Given the description of an element on the screen output the (x, y) to click on. 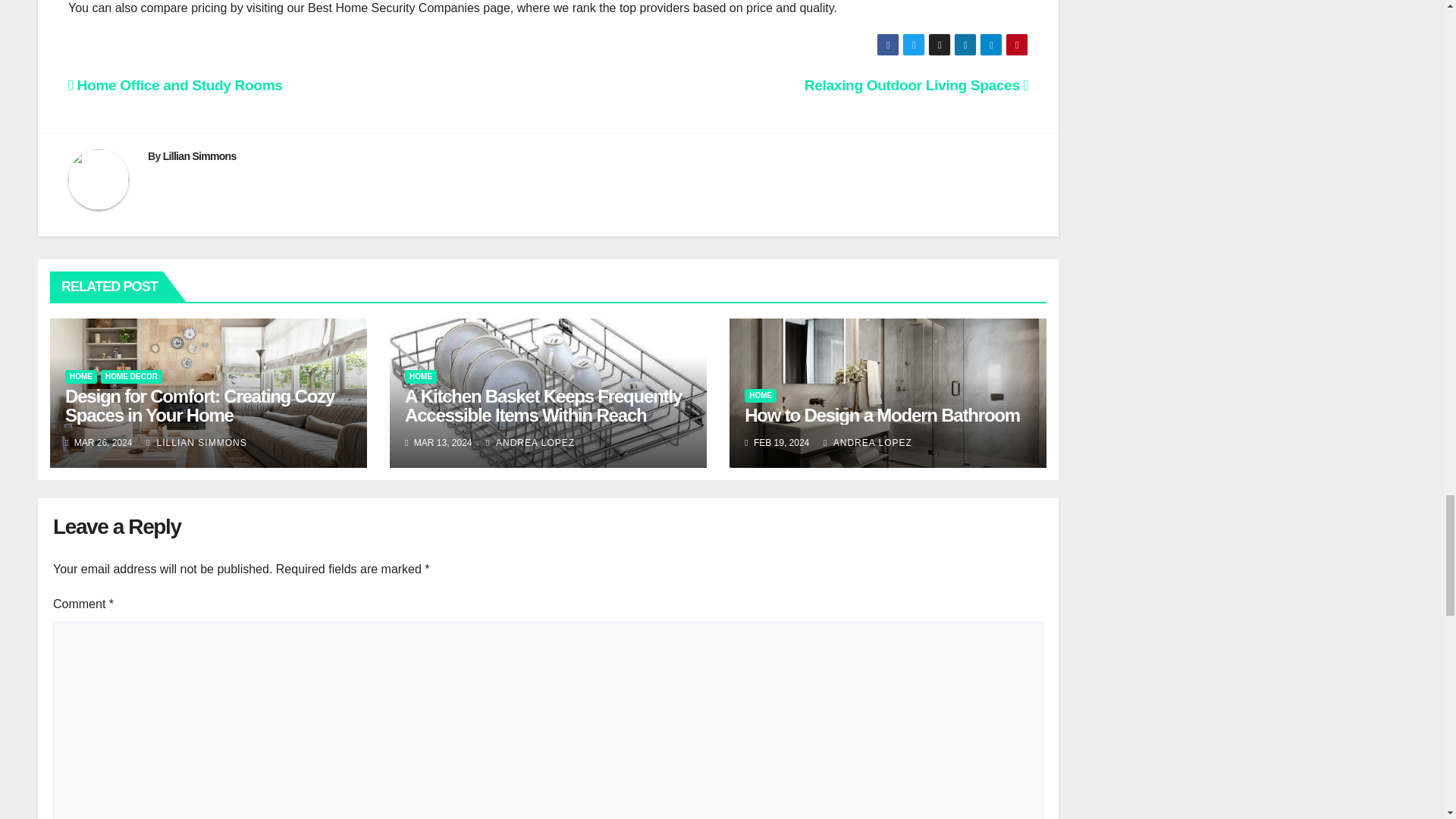
Permalink to: How to Design a Modern Bathroom (882, 414)
Lillian Simmons (199, 155)
HOME (81, 377)
HOME (420, 377)
Relaxing Outdoor Living Spaces (916, 84)
ANDREA LOPEZ (530, 442)
LILLIAN SIMMONS (197, 442)
Home Office and Study Rooms (175, 84)
HOME (760, 395)
Design for Comfort: Creating Cozy Spaces in Your Home (199, 405)
HOME DECOR (130, 377)
